Given the description of an element on the screen output the (x, y) to click on. 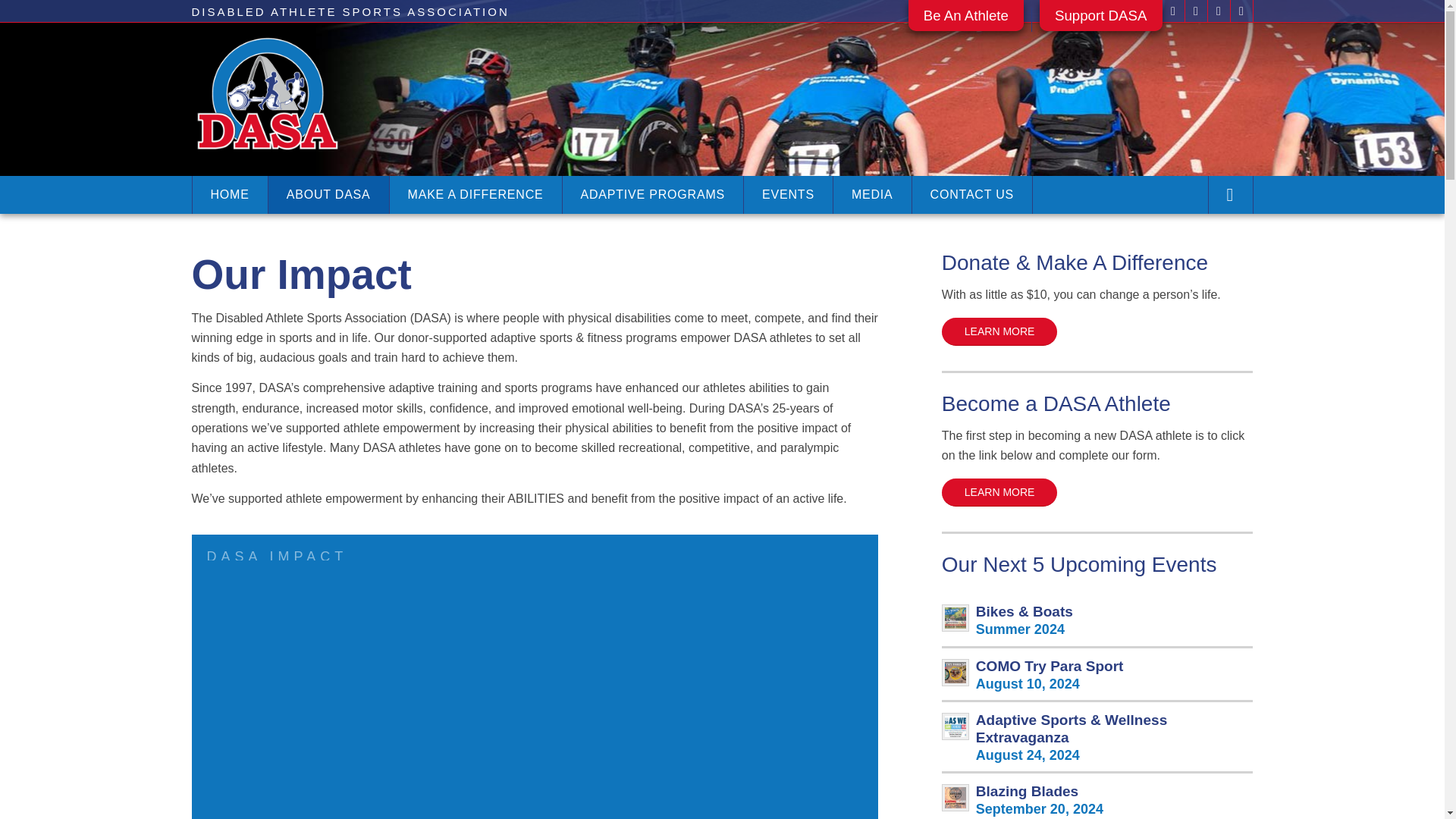
Support DASA (1100, 21)
HOME (228, 194)
Twitter (1196, 11)
Instagram (1217, 11)
ABOUT DASA (327, 194)
Be An Athlete (965, 21)
ADAPTIVE PROGRAMS (653, 194)
MAKE A DIFFERENCE (475, 194)
Youtube (1241, 11)
Facebook (1172, 11)
